Given the description of an element on the screen output the (x, y) to click on. 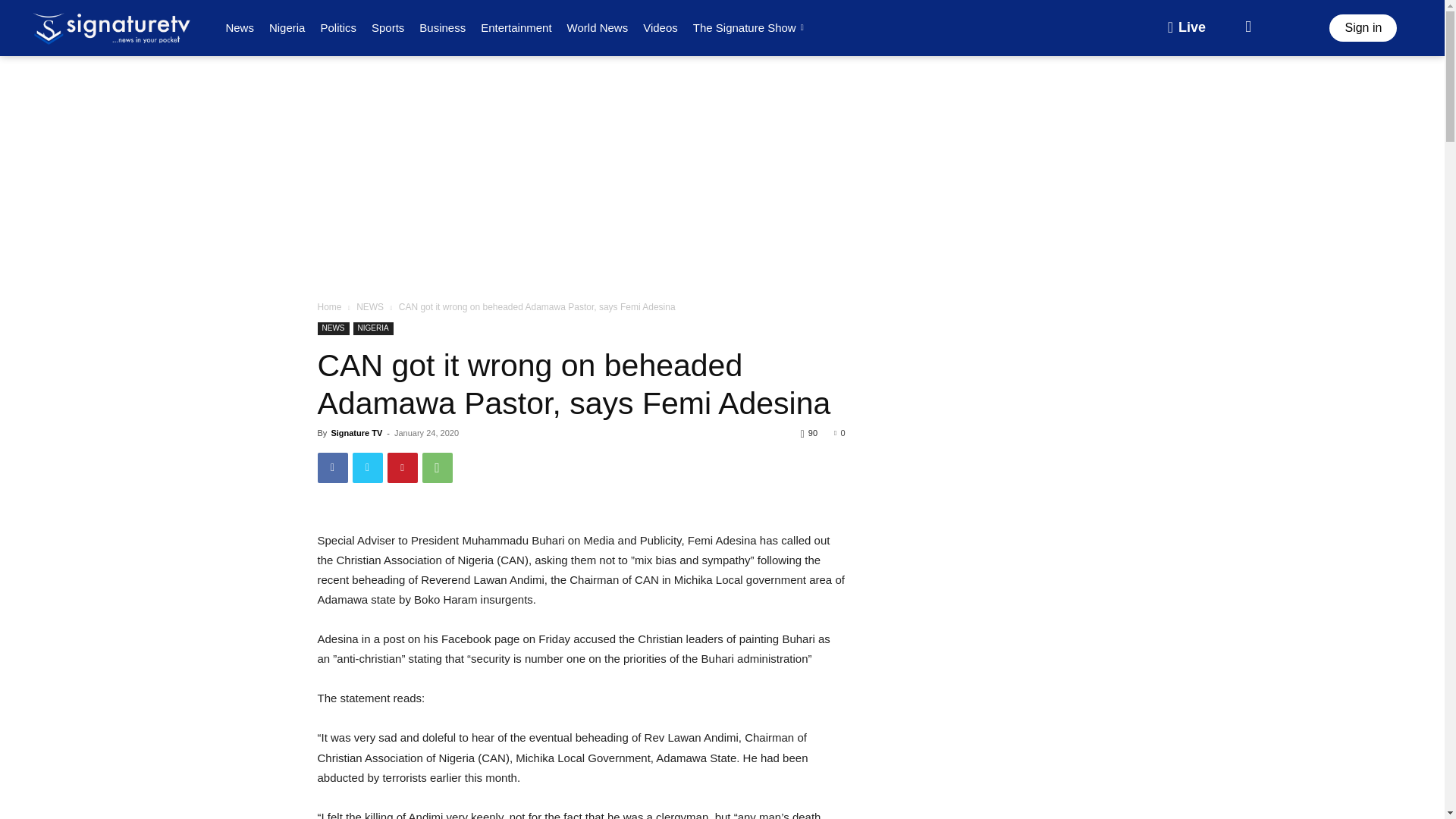
Sign in (1362, 27)
Videos (659, 27)
WhatsApp (436, 467)
News (239, 27)
Live (1186, 28)
Entertainment (516, 27)
Nigeria (287, 27)
Sports (388, 27)
Pinterest (401, 467)
Politics (338, 27)
Business (442, 27)
Twitter (366, 467)
World News (597, 27)
The Signature Show (750, 27)
Facebook (332, 467)
